Given the description of an element on the screen output the (x, y) to click on. 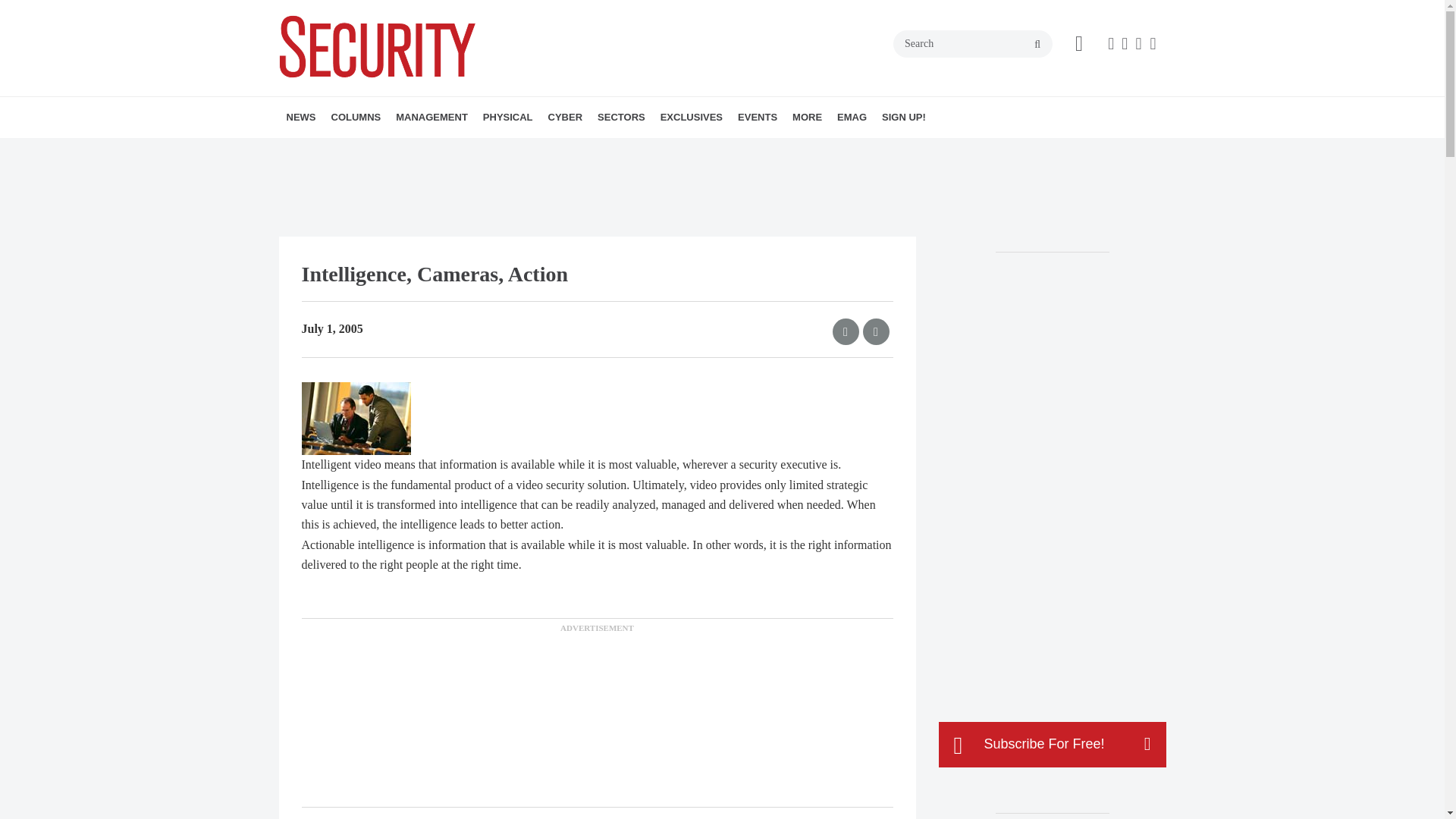
Search (972, 43)
Search (972, 43)
ACCESS MANAGEMENT (570, 150)
CYBER (565, 117)
MORE (504, 150)
facebook (1110, 44)
CYBERSECURITY NEWS (635, 150)
MORE (641, 150)
SECURITY BLOG (386, 150)
youtube (1153, 44)
CYBER TACTICS (417, 150)
SECURITY TALK (430, 150)
LEADER TO LEADER (442, 150)
cart (1079, 43)
PHYSICAL (508, 117)
